Given the description of an element on the screen output the (x, y) to click on. 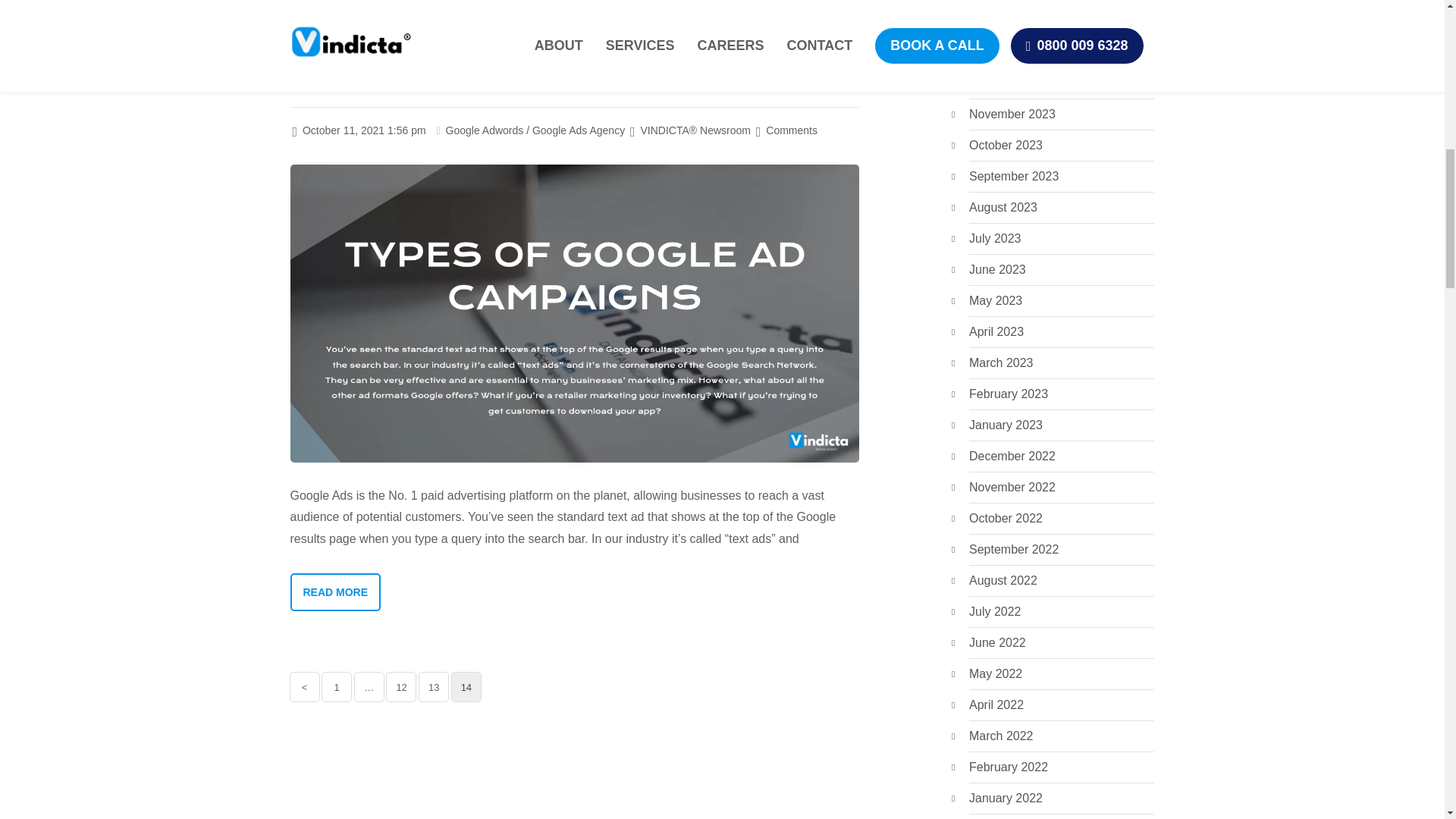
READ MORE (334, 3)
October 11, 2021 1:56 pm (359, 130)
GOOGLE ADS: TYPES OF GOOGLE AD CAMPAIGNS (573, 80)
